Given the description of an element on the screen output the (x, y) to click on. 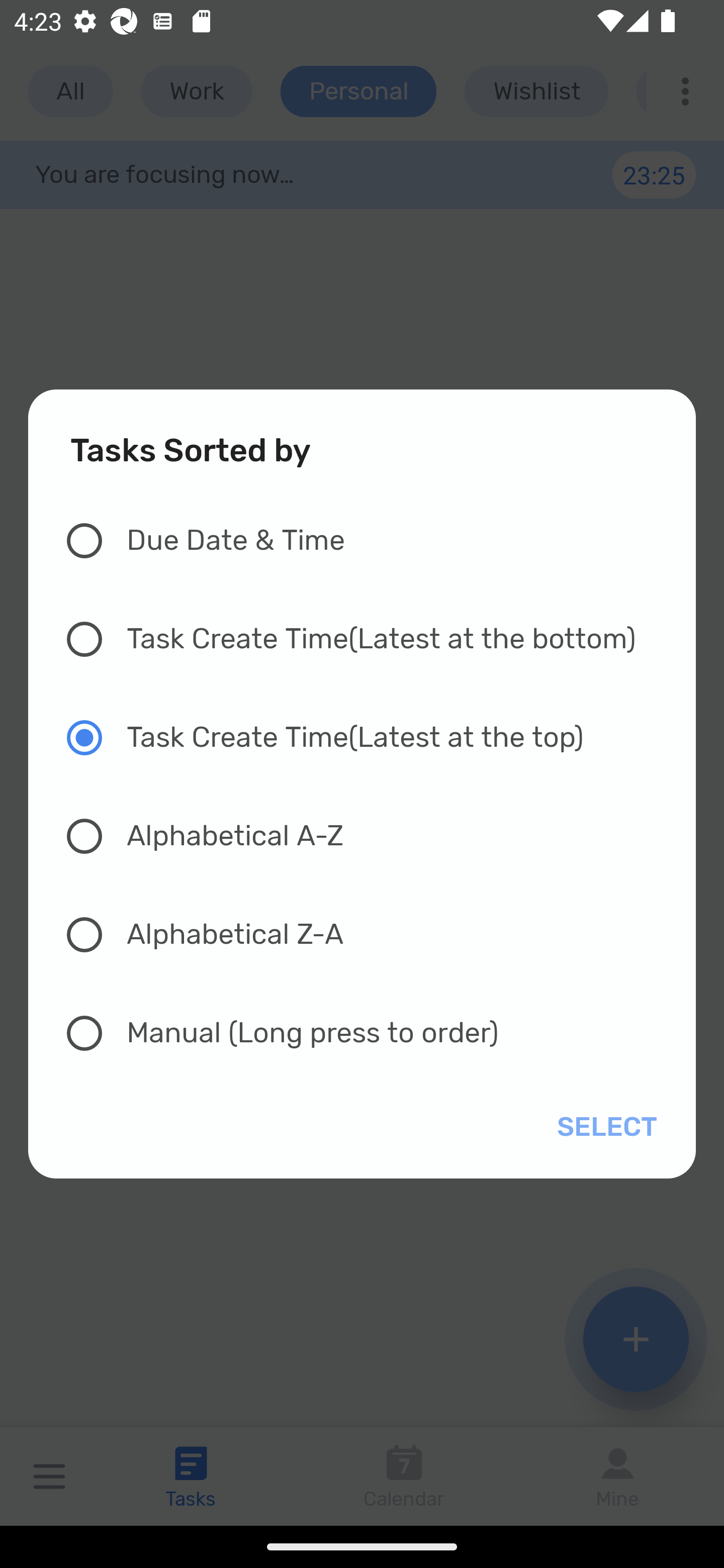
Due Date & Time (372, 540)
Task Create Time(Latest at the bottom) (372, 639)
Task Create Time(Latest at the top) (372, 737)
Alphabetical A-Z (372, 835)
Alphabetical Z-A (372, 934)
Manual (Long press to order) (372, 1033)
SELECT (603, 1127)
